Given the description of an element on the screen output the (x, y) to click on. 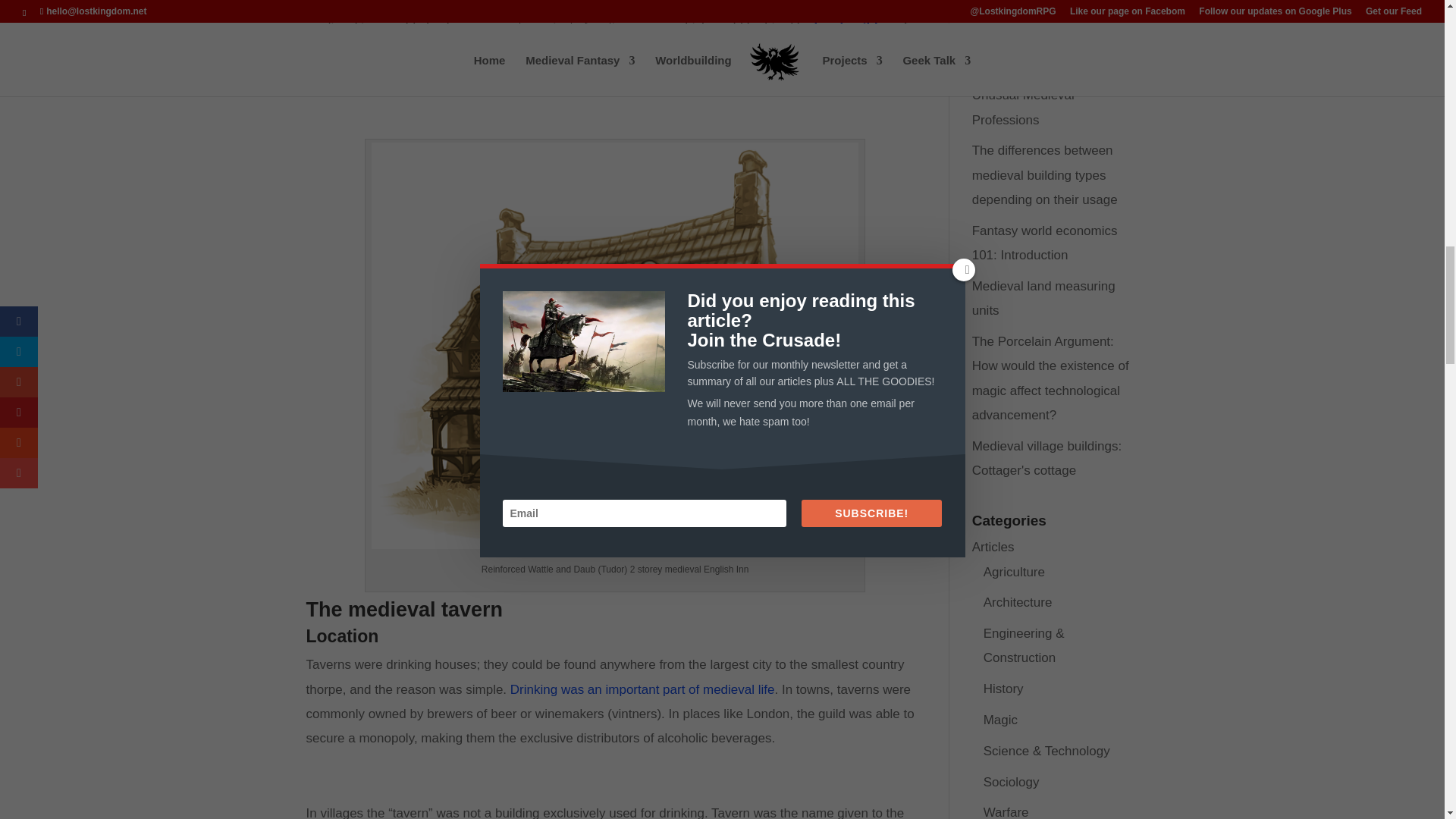
Architecture (1018, 602)
